Given the description of an element on the screen output the (x, y) to click on. 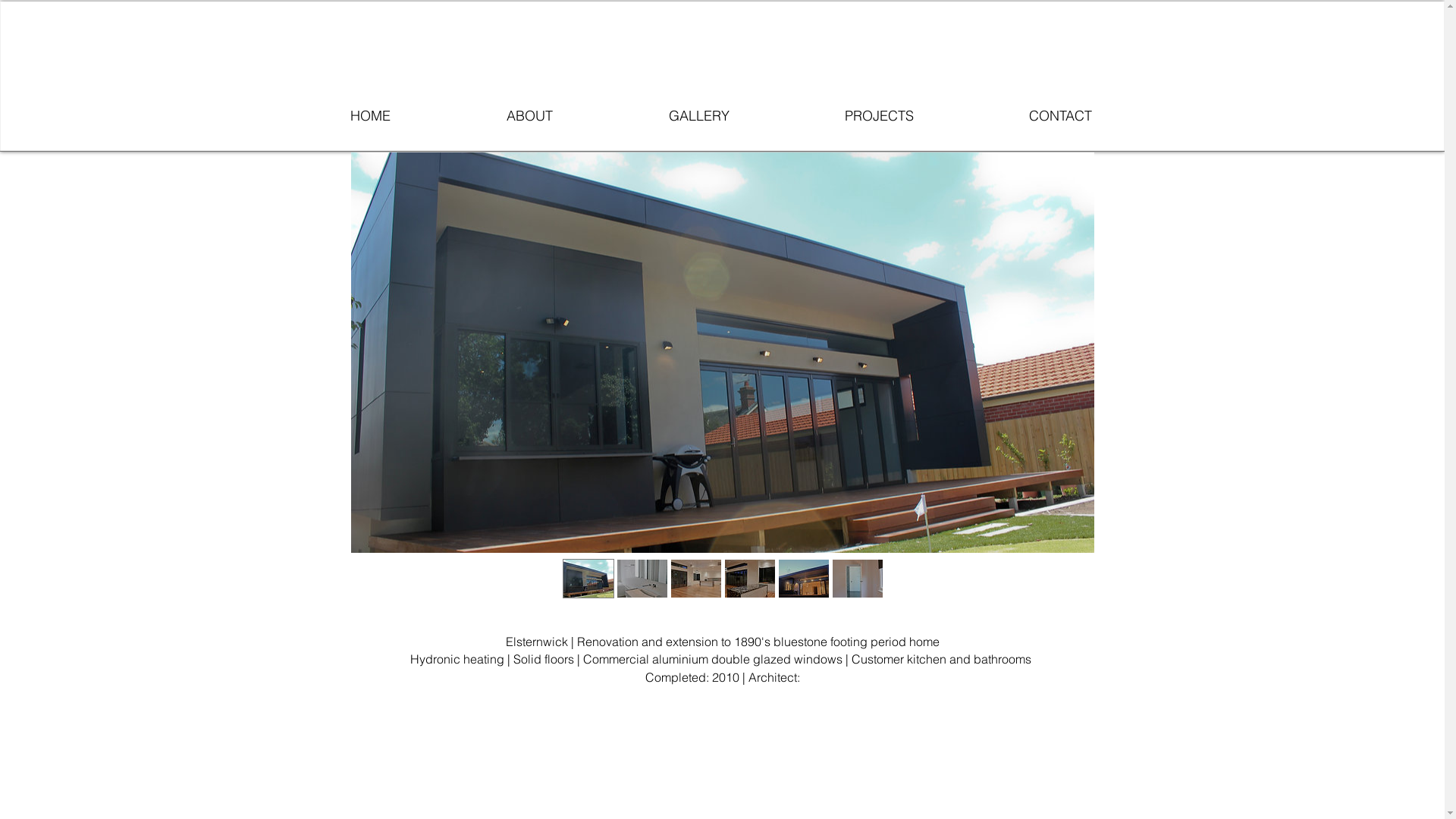
PROJECTS Element type: text (917, 115)
CONTACT Element type: text (1099, 115)
GALLERY Element type: text (737, 115)
ABOUT Element type: text (567, 115)
HOME Element type: text (408, 115)
